Given the description of an element on the screen output the (x, y) to click on. 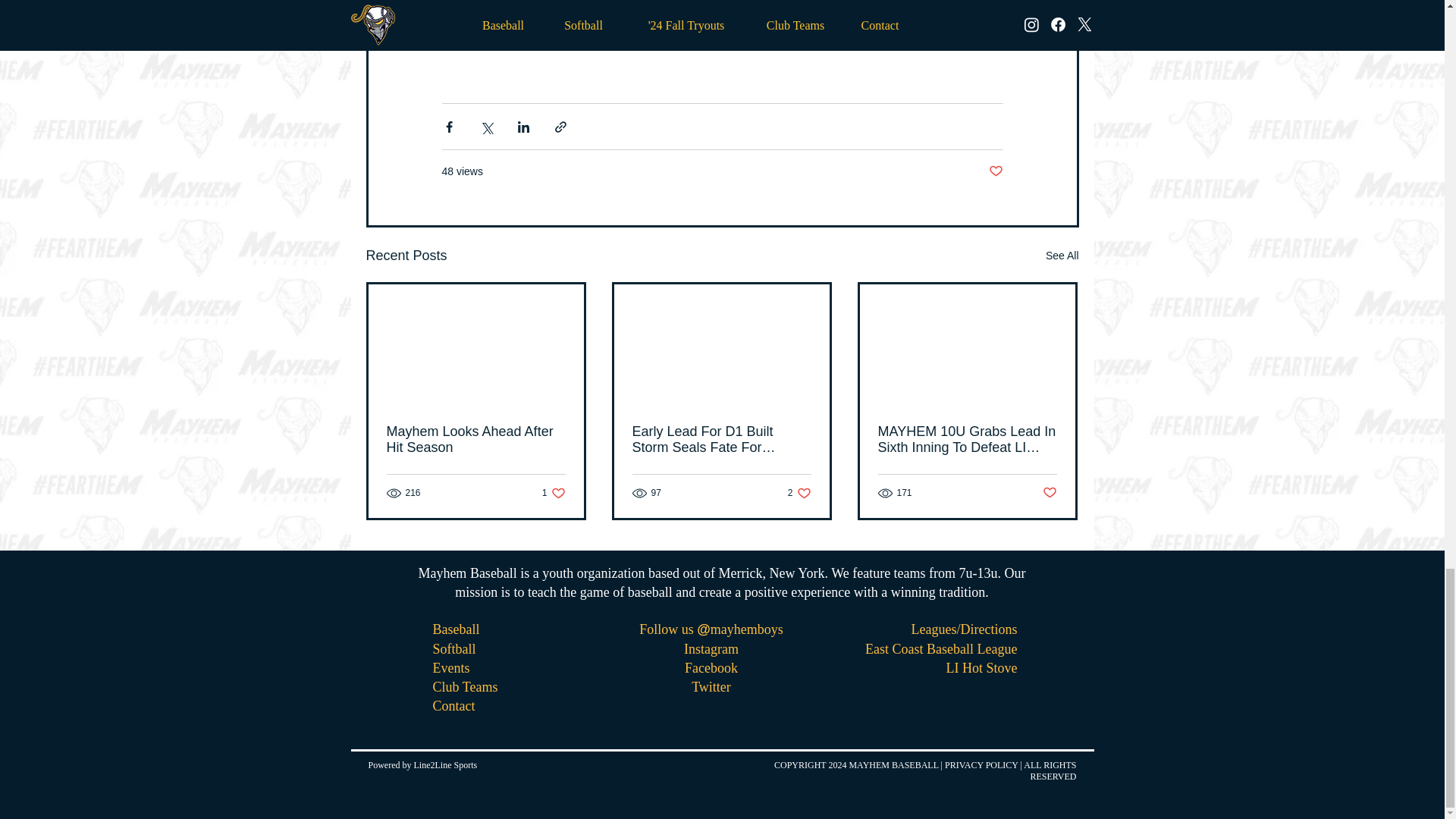
MAYHEM 10U Grabs Lead In Sixth Inning To Defeat LI Titans (967, 439)
Mayhem Looks Ahead After Hit Season (476, 439)
Post not marked as liked (995, 171)
Events (450, 667)
Early Lead For D1 Built Storm Seals Fate For Mayhem 11U (720, 439)
See All (1061, 255)
Contact (453, 705)
Instagram (711, 648)
Club Teams (798, 493)
